Given the description of an element on the screen output the (x, y) to click on. 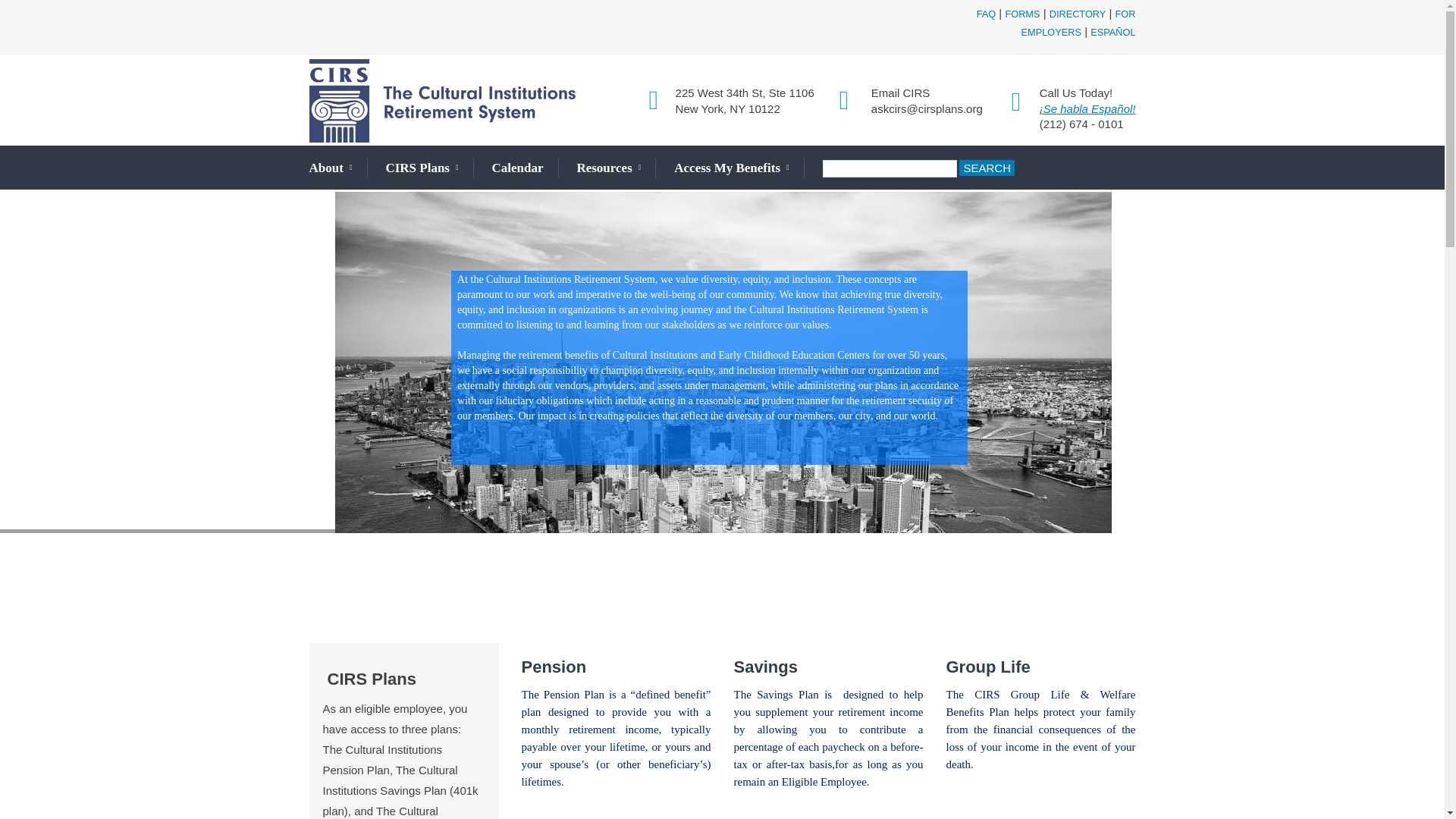
FORMS (1021, 13)
FOR EMPLOYERS (1078, 22)
Email CIRS (900, 92)
Calendar (517, 166)
Search (986, 166)
DIRECTORY (1077, 13)
FAQ (985, 13)
About (330, 167)
Resources (608, 167)
CIRS Plans (421, 167)
Search (986, 166)
Access My Benefits (731, 167)
